Given the description of an element on the screen output the (x, y) to click on. 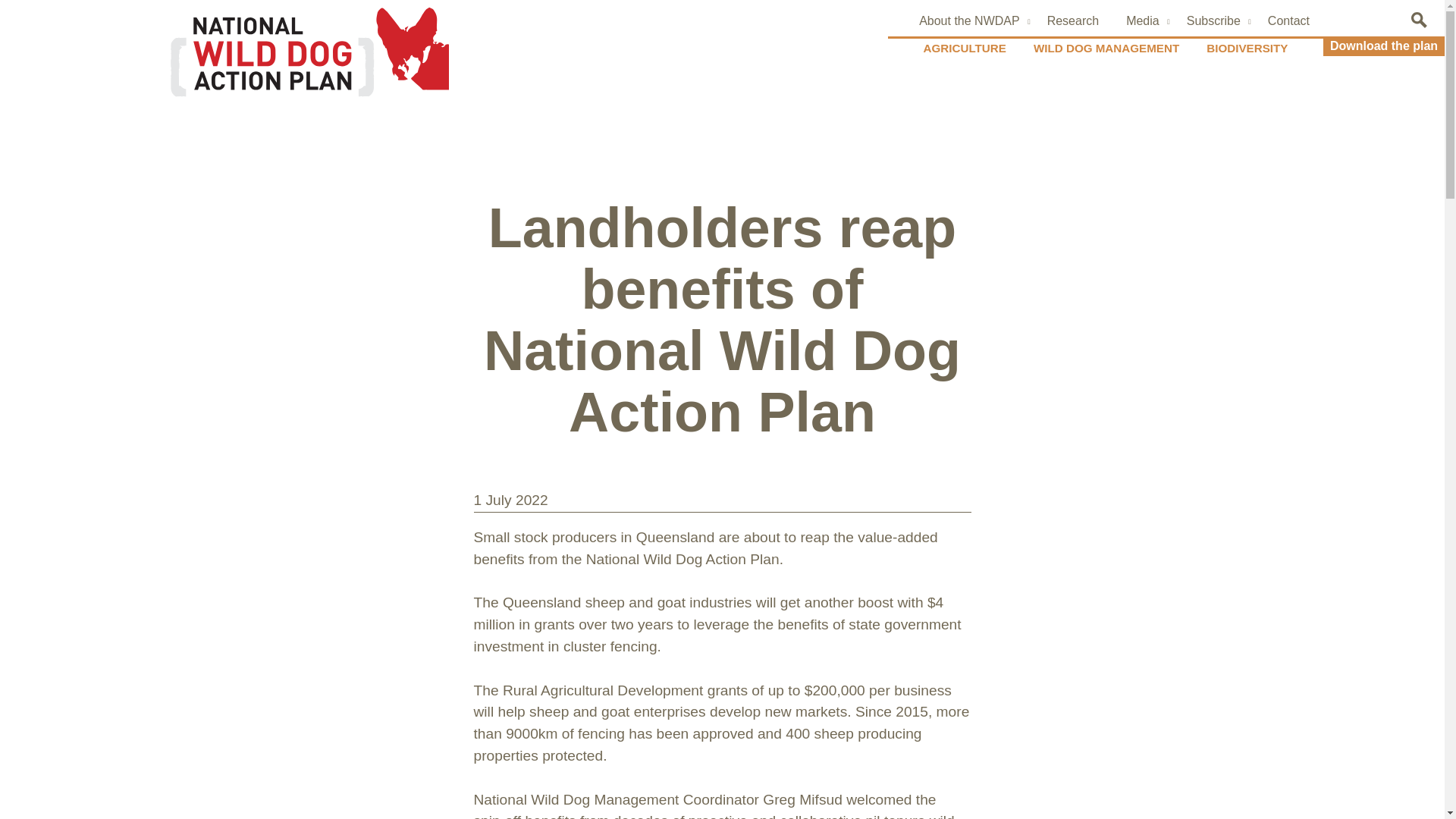
Media (1141, 21)
BIODIVERSITY (1247, 48)
About the NWDAP (969, 21)
AGRICULTURE (964, 48)
WILD DOG MANAGEMENT (1106, 48)
Contact (1288, 21)
Subscribe (1213, 21)
Research (1072, 21)
